Given the description of an element on the screen output the (x, y) to click on. 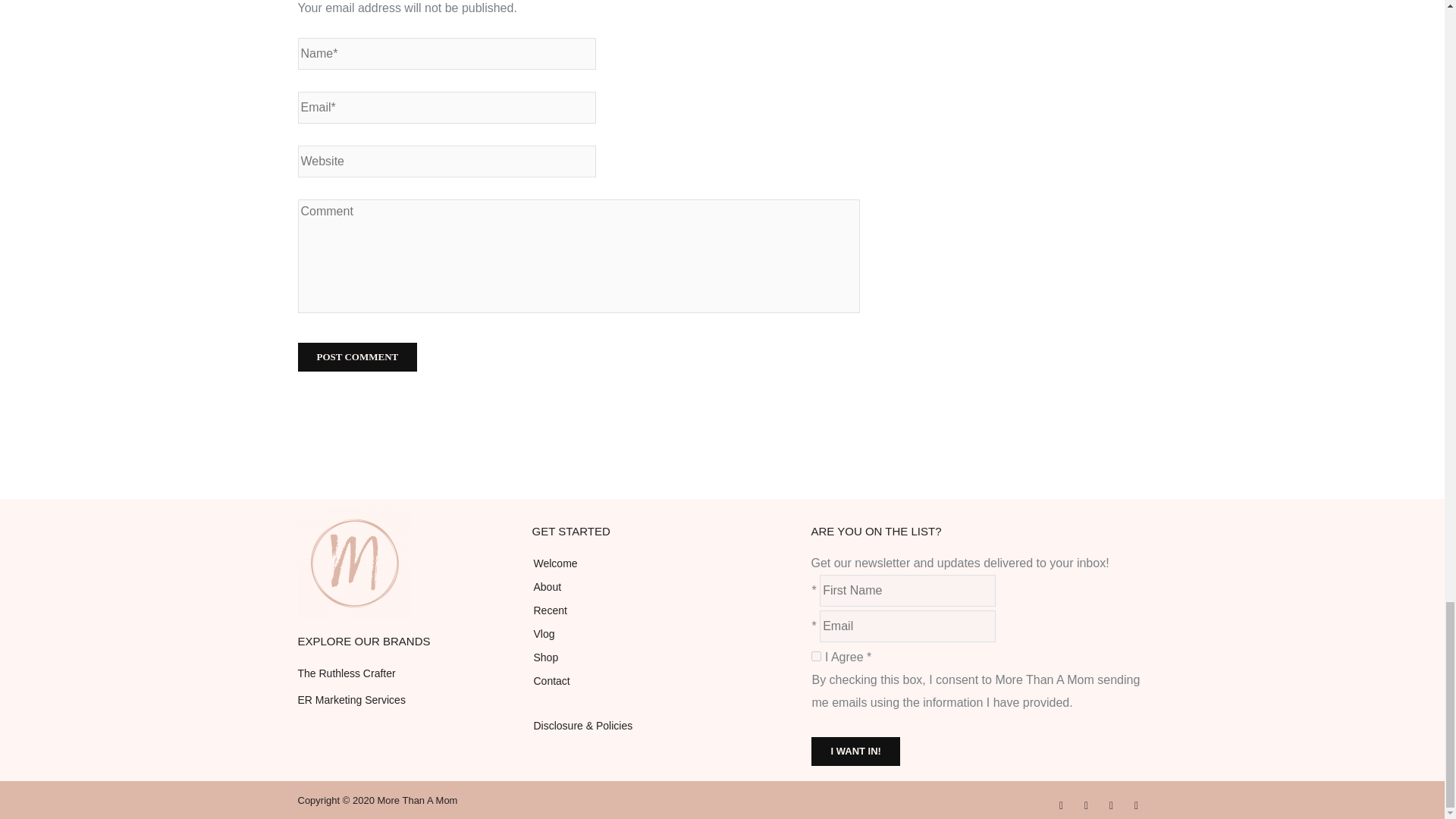
I Want In! (854, 751)
Post Comment (356, 357)
